Given the description of an element on the screen output the (x, y) to click on. 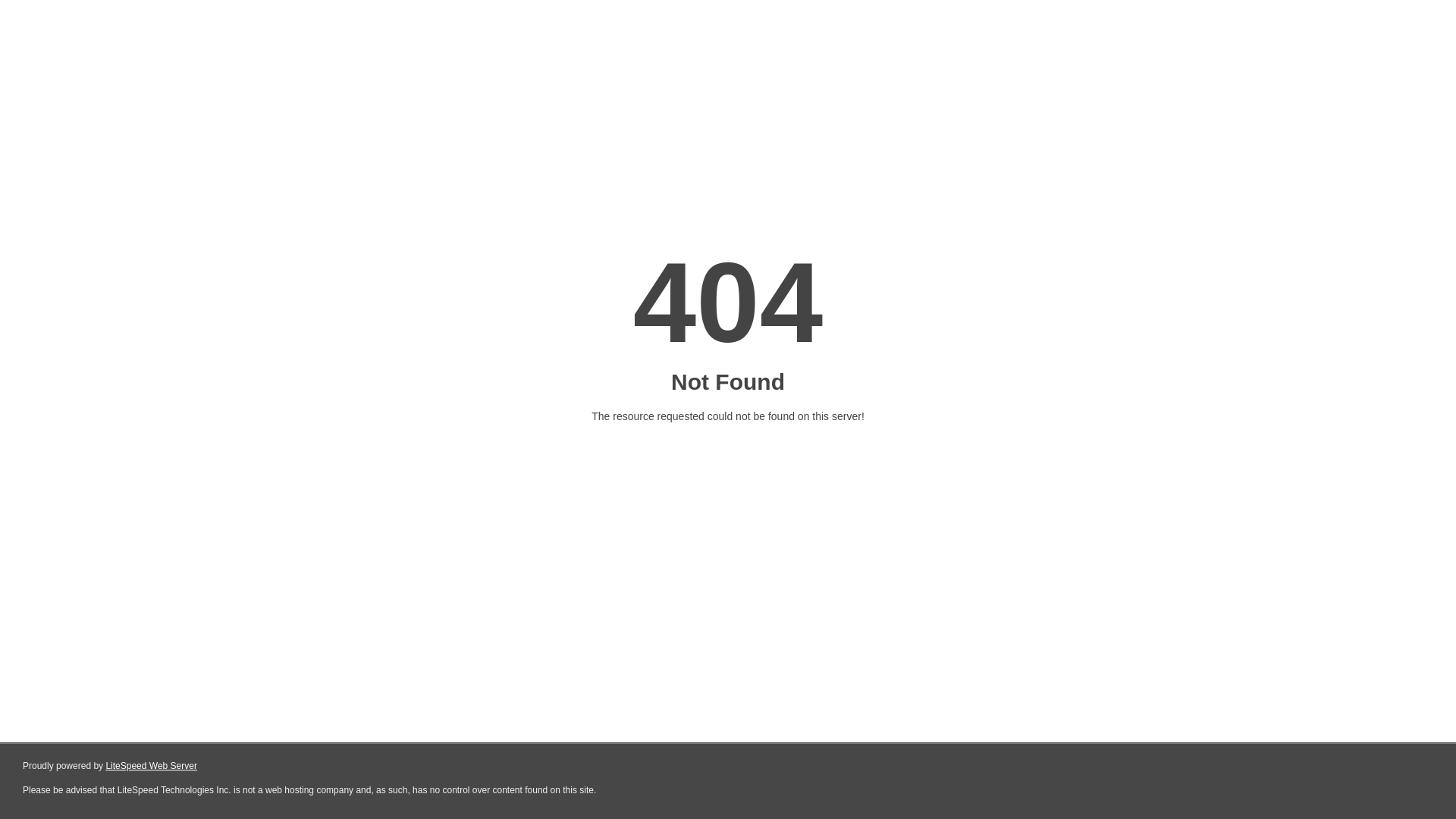
LiteSpeed Web Server Element type: text (151, 765)
